Given the description of an element on the screen output the (x, y) to click on. 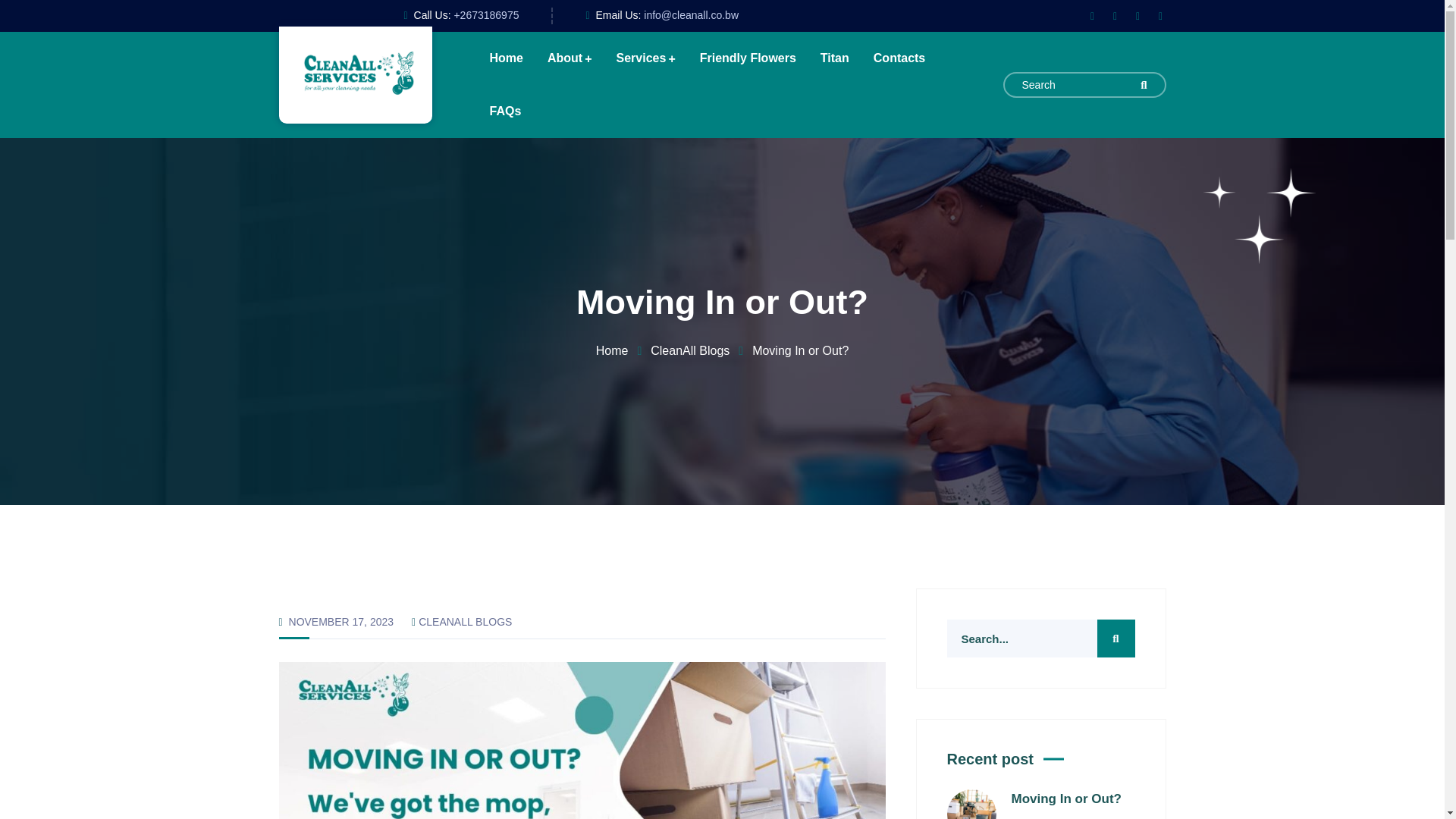
Moving In or Out? (1066, 799)
Contacts (898, 58)
CleanAll Services (355, 73)
CLEANALL BLOGS (465, 621)
CleanAll Blogs (701, 350)
Home (622, 350)
Moving In or Out? (1066, 799)
Friendly Flowers (748, 58)
Services (645, 58)
